Given the description of an element on the screen output the (x, y) to click on. 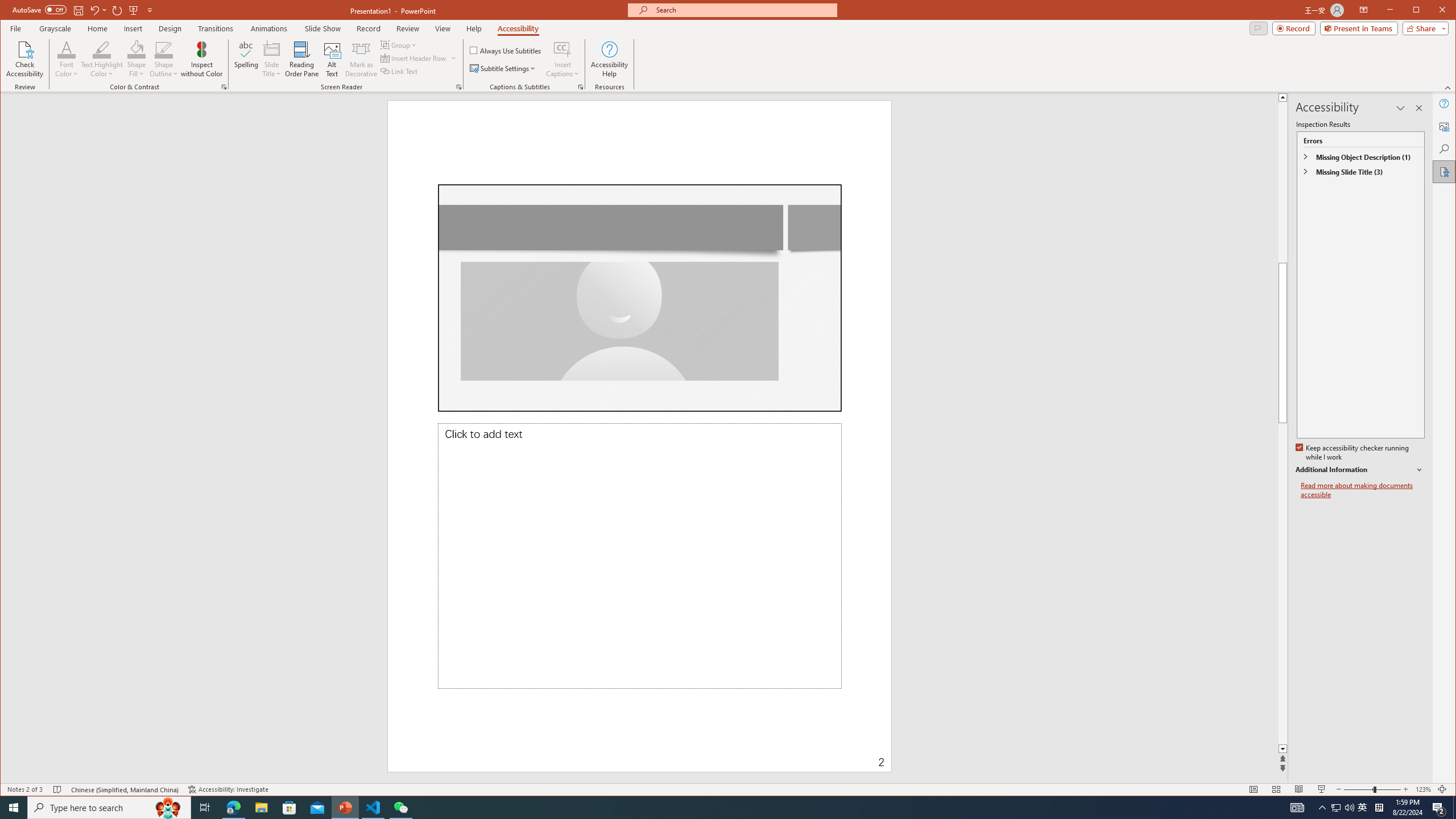
Grayscale (55, 28)
Maximize (1432, 11)
Shape Fill Orange, Accent 2 (136, 48)
WeChat - 1 running window (400, 807)
